Given the description of an element on the screen output the (x, y) to click on. 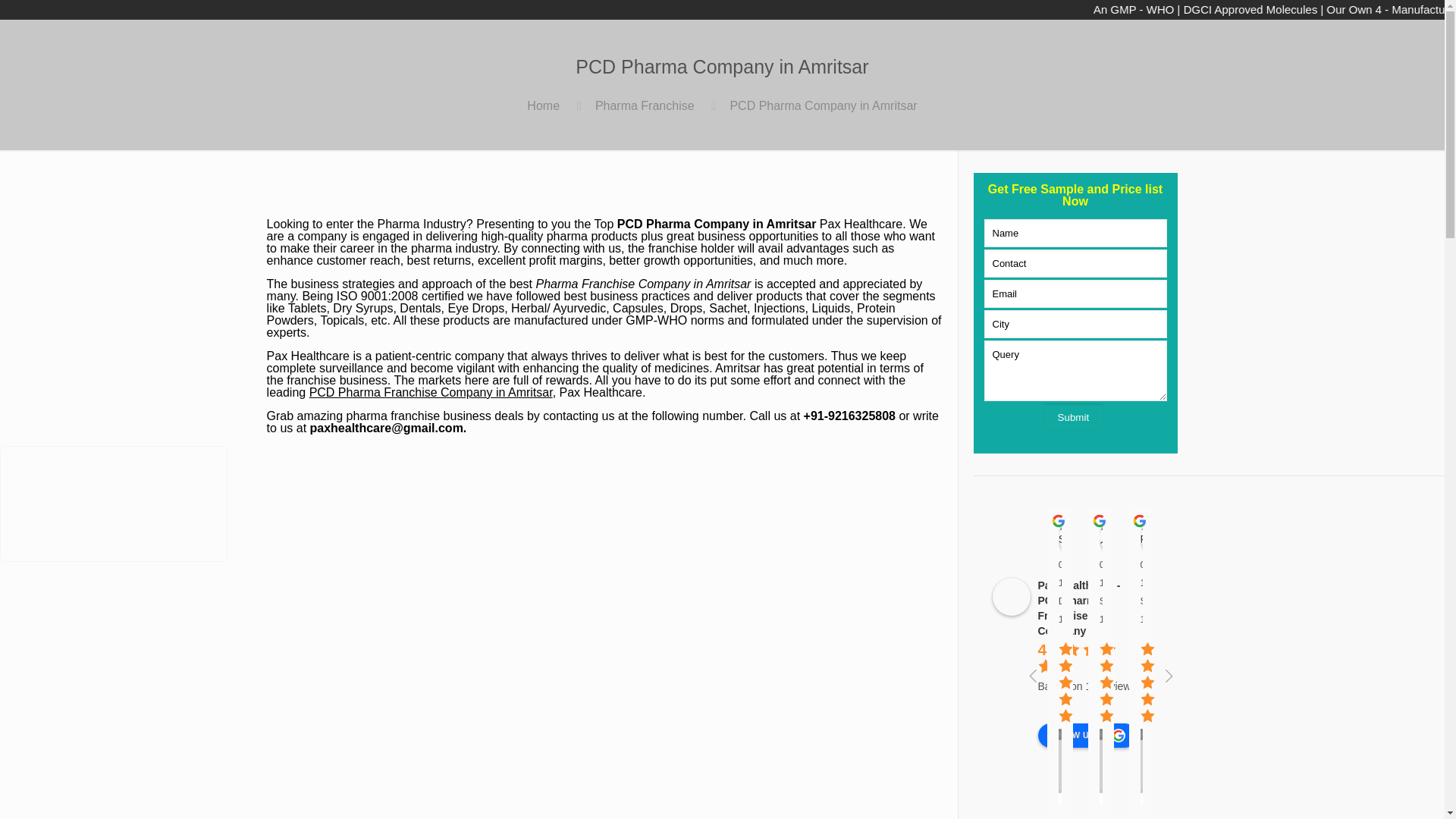
Kushal Kumar Gupta (1240, 536)
munish kumar (1199, 536)
Sharan Virk (1077, 536)
Ritika Tripathi (1158, 536)
Pax Healthcare - PCD Pharma Franchise Company (1010, 596)
Facebook (1126, 38)
Twitter (1150, 38)
Submit (1072, 417)
powered by Google (1086, 704)
LinkedIn (1177, 38)
Anu Gupta (1118, 536)
